Given the description of an element on the screen output the (x, y) to click on. 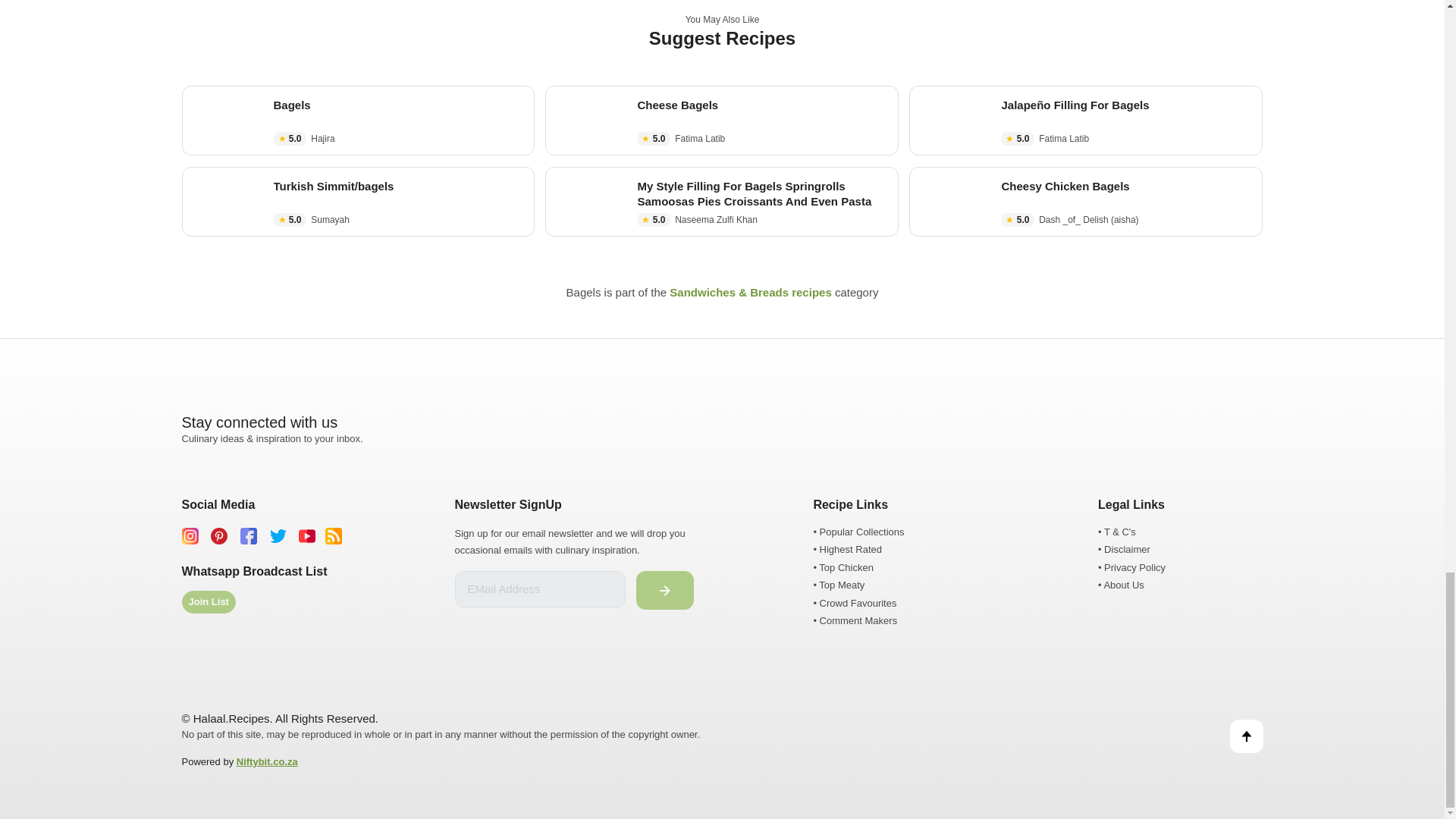
halaal recipes Youtube page (306, 534)
halaal recipes Instagram page (190, 534)
halaal recipes Pinterest page (219, 534)
halaal recipes RSS Feed (333, 534)
halaal recipes Twitter page (277, 534)
halaal recipes facebook page (248, 534)
